Given the description of an element on the screen output the (x, y) to click on. 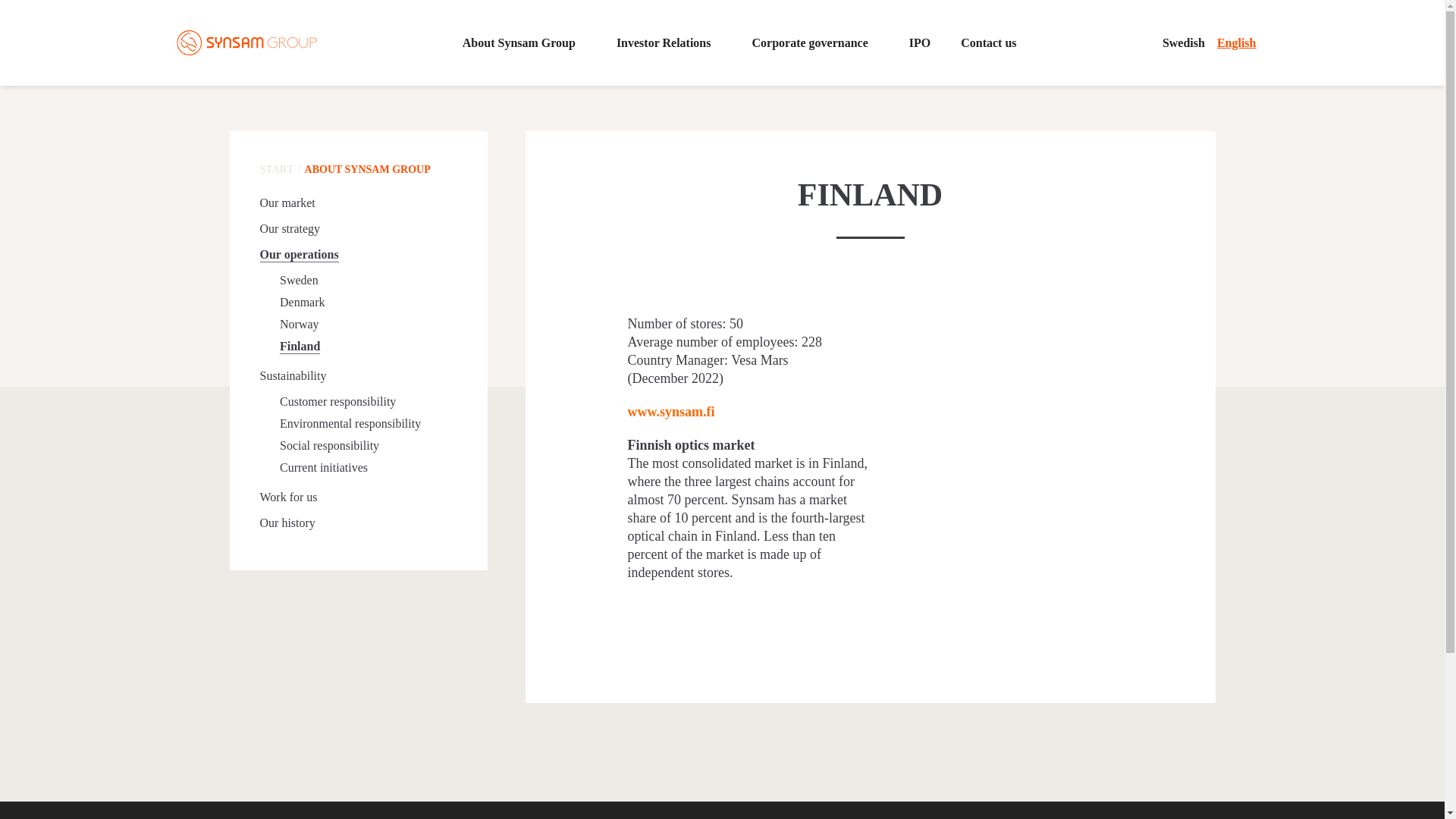
About Synsam Group (524, 42)
Investor Relations (668, 42)
Corporate governance (814, 42)
